Given the description of an element on the screen output the (x, y) to click on. 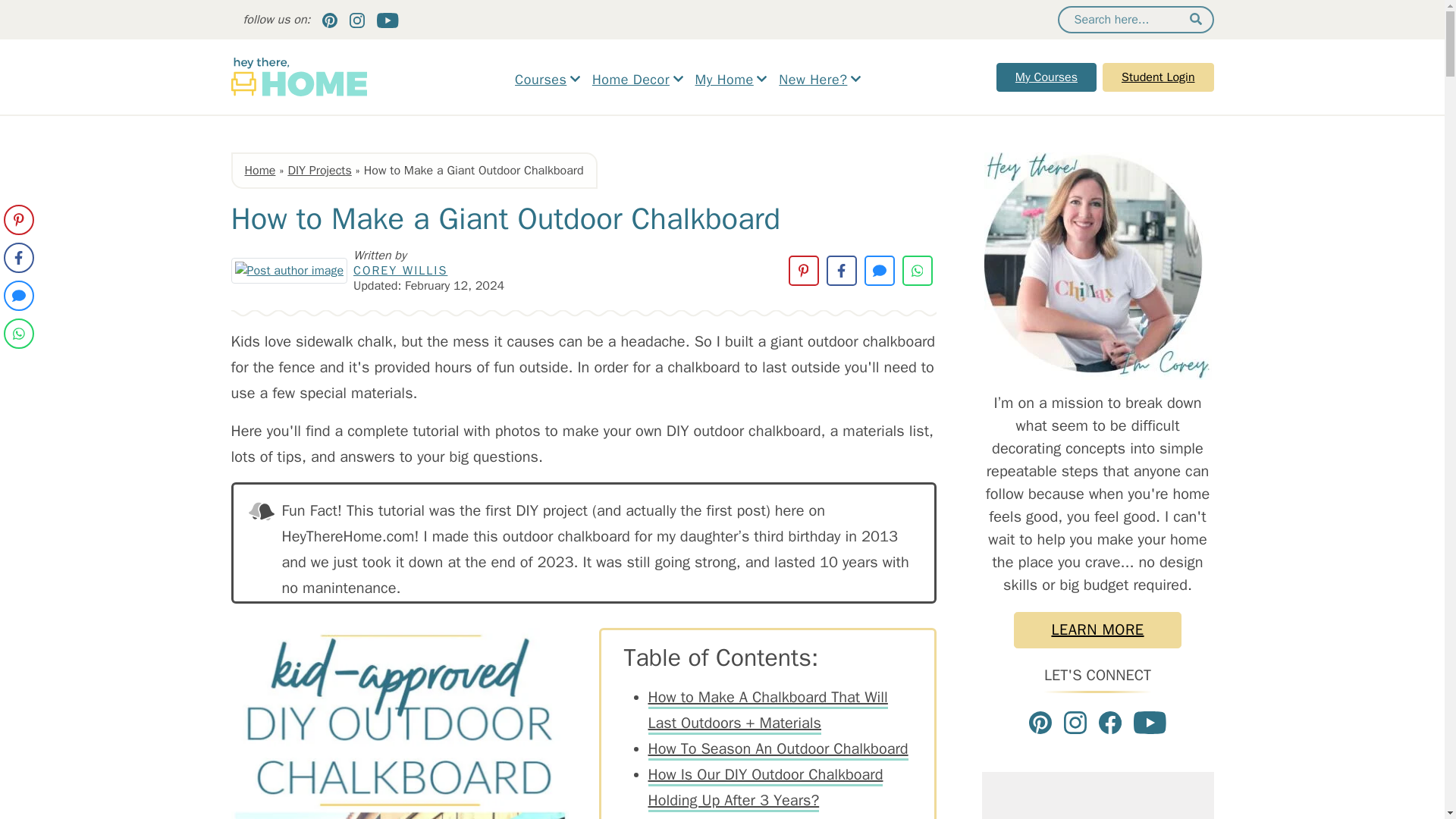
Follow Hey there, Home on Pinterest (1040, 722)
My Courses (1045, 76)
Subscribe to Hey there, Home YouTube channel (1150, 722)
Student Login (1158, 76)
Home Decor (637, 79)
Home (259, 170)
Search (1195, 19)
Subscribe to Hey there, Home YouTube channel (387, 19)
How To Season An Outdoor Chalkboard (777, 749)
My Home (730, 79)
Join Hey there, Home on Facebook (1110, 722)
Learn more about Corey Willis (288, 270)
Follow Hey there, Home on Instagram (1075, 722)
New Here? (819, 79)
